Given the description of an element on the screen output the (x, y) to click on. 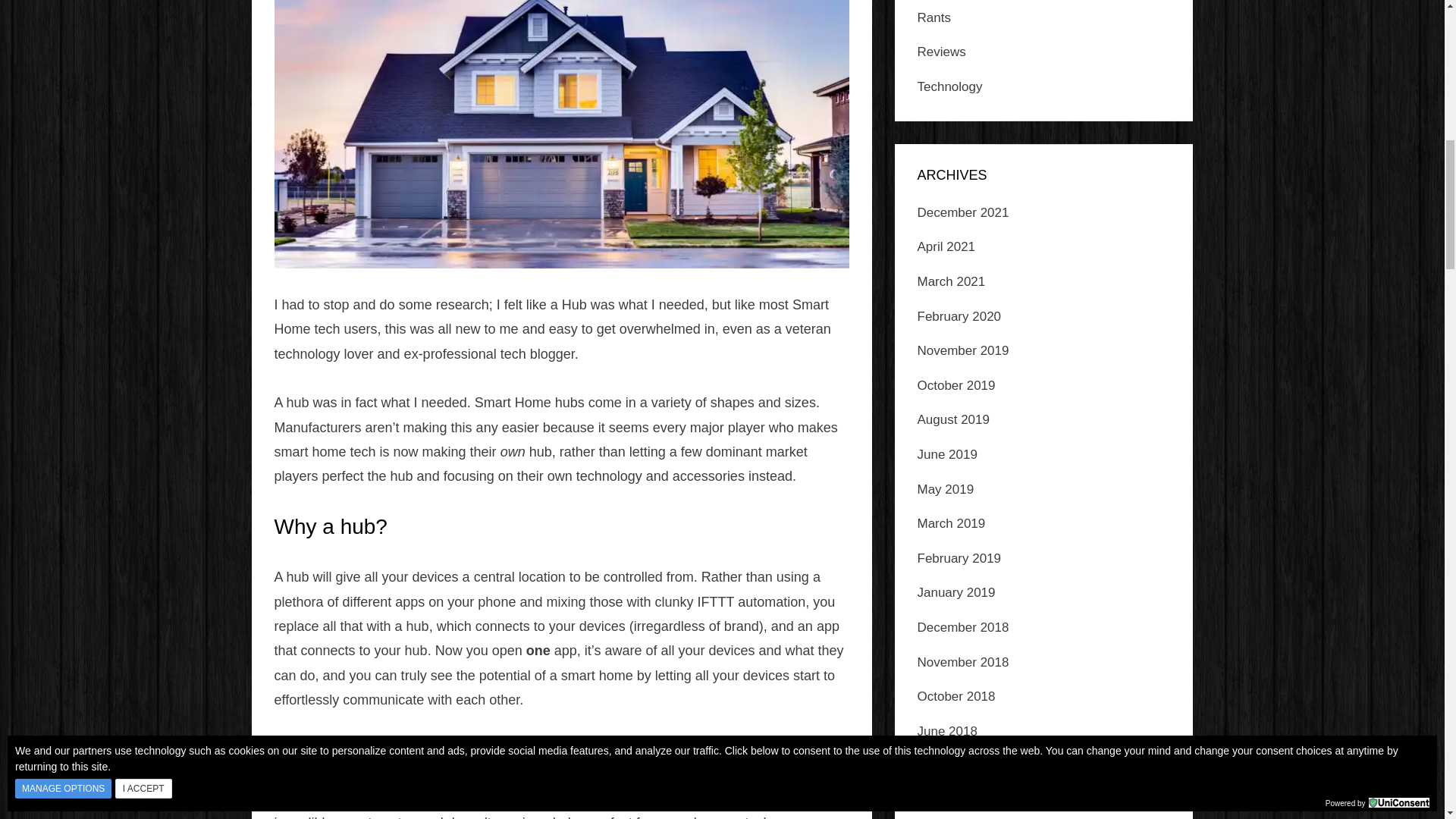
May 2019 (945, 489)
December 2021 (963, 212)
April 2021 (946, 246)
March 2021 (951, 281)
February 2019 (959, 558)
November 2019 (963, 350)
Rants (933, 17)
March 2019 (951, 523)
Reviews (941, 51)
June 2019 (946, 454)
October 2019 (956, 385)
February 2020 (959, 316)
Technology (949, 86)
August 2019 (953, 419)
